Given the description of an element on the screen output the (x, y) to click on. 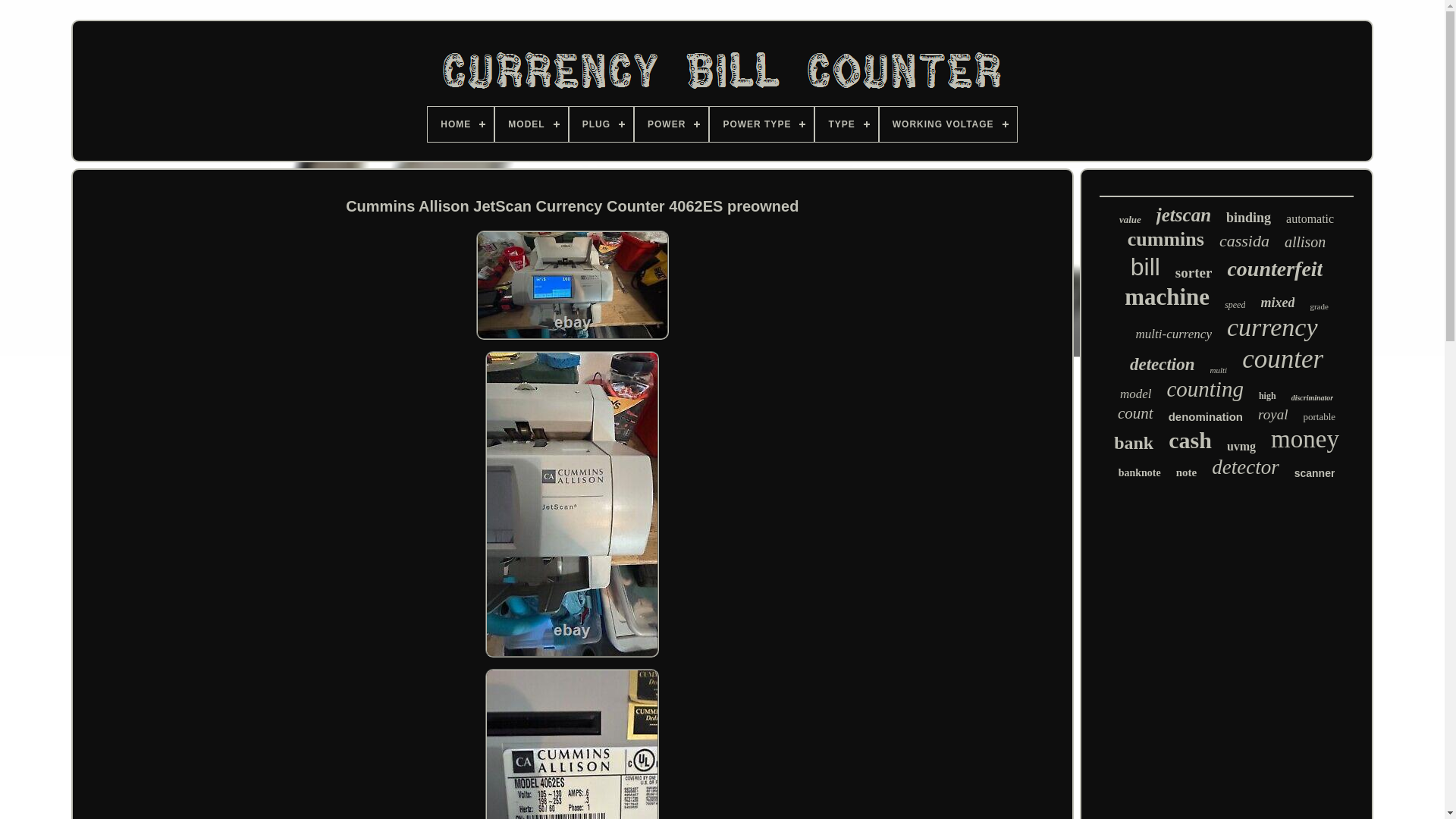
Cummins Allison JetScan Currency Counter 4062ES preowned (571, 744)
Cummins Allison JetScan Currency Counter 4062ES preowned (572, 284)
POWER (670, 124)
Cummins Allison JetScan Currency Counter 4062ES preowned (571, 504)
PLUG (601, 124)
HOME (460, 124)
MODEL (531, 124)
